Given the description of an element on the screen output the (x, y) to click on. 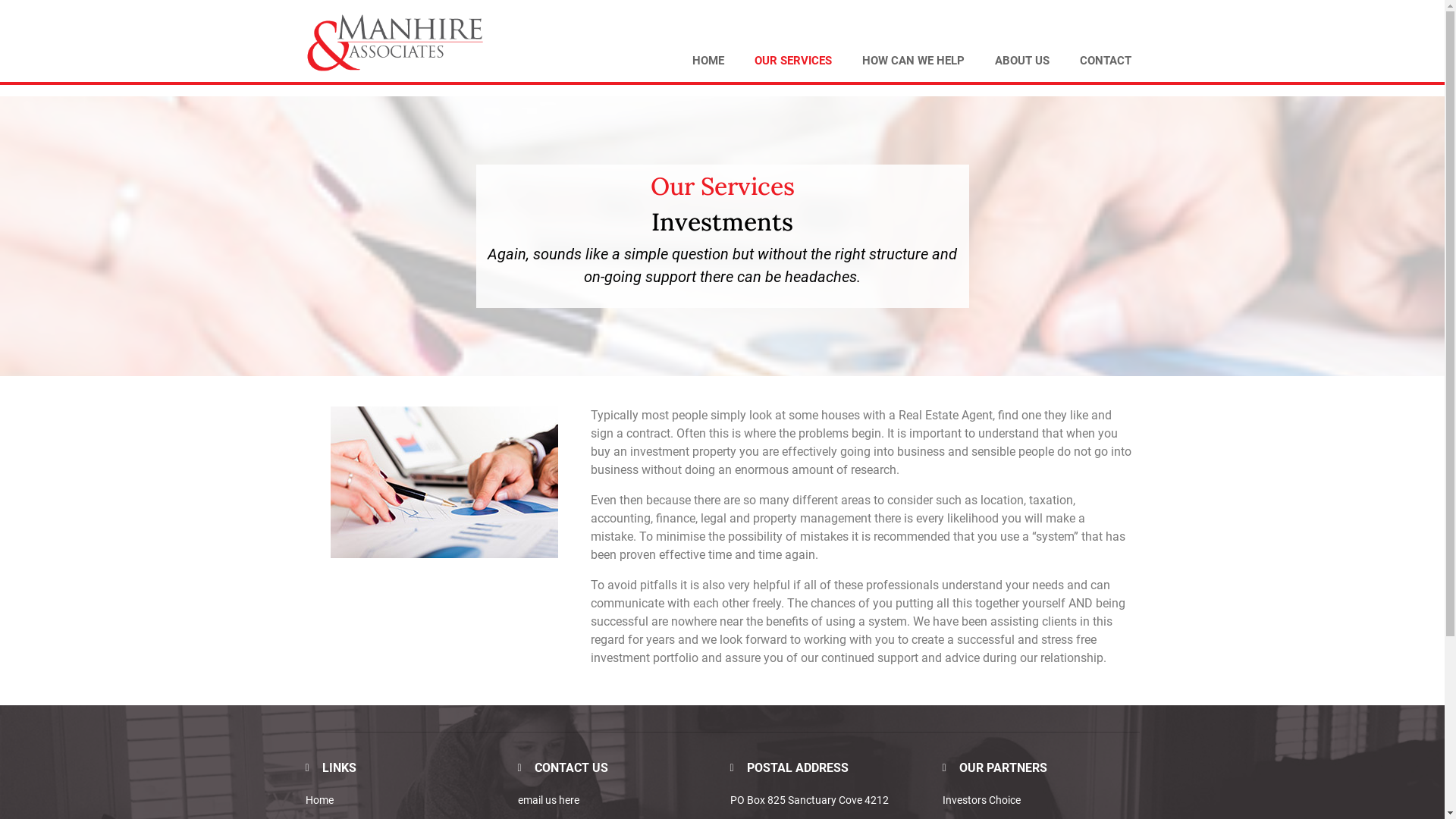
HOW CAN WE HELP Element type: text (913, 60)
CONTACT Element type: text (1105, 60)
HOME Element type: text (708, 60)
email us here Element type: text (547, 799)
Home Element type: text (403, 800)
Investors Choice Element type: text (980, 799)
ABOUT US Element type: text (1021, 60)
OUR SERVICES Element type: text (793, 60)
